Given the description of an element on the screen output the (x, y) to click on. 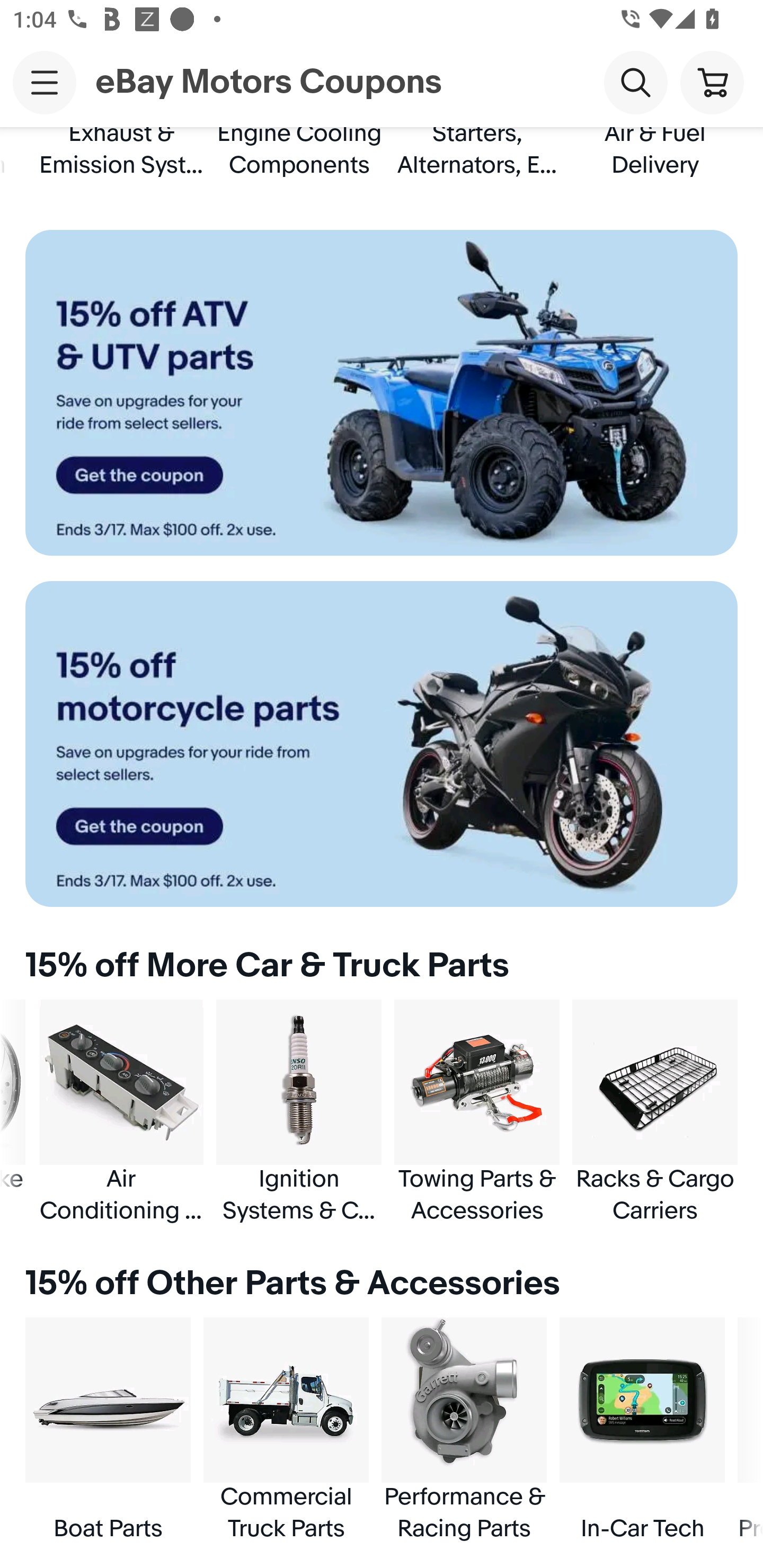
Main navigation, open (44, 82)
Search (635, 81)
Cart button shopping cart (711, 81)
15% off atv and utv parts (381, 392)
15% off motorcycle parts (381, 743)
Air Conditioning & Heating (120, 1112)
Ignition Systems & Components (298, 1112)
Towing Parts & Accessories (476, 1112)
Racks & Cargo Carriers (654, 1112)
Boat Parts (107, 1429)
Commercial Truck Parts (285, 1429)
Performance & Racing Parts (464, 1429)
In-Car Tech (641, 1429)
